Given the description of an element on the screen output the (x, y) to click on. 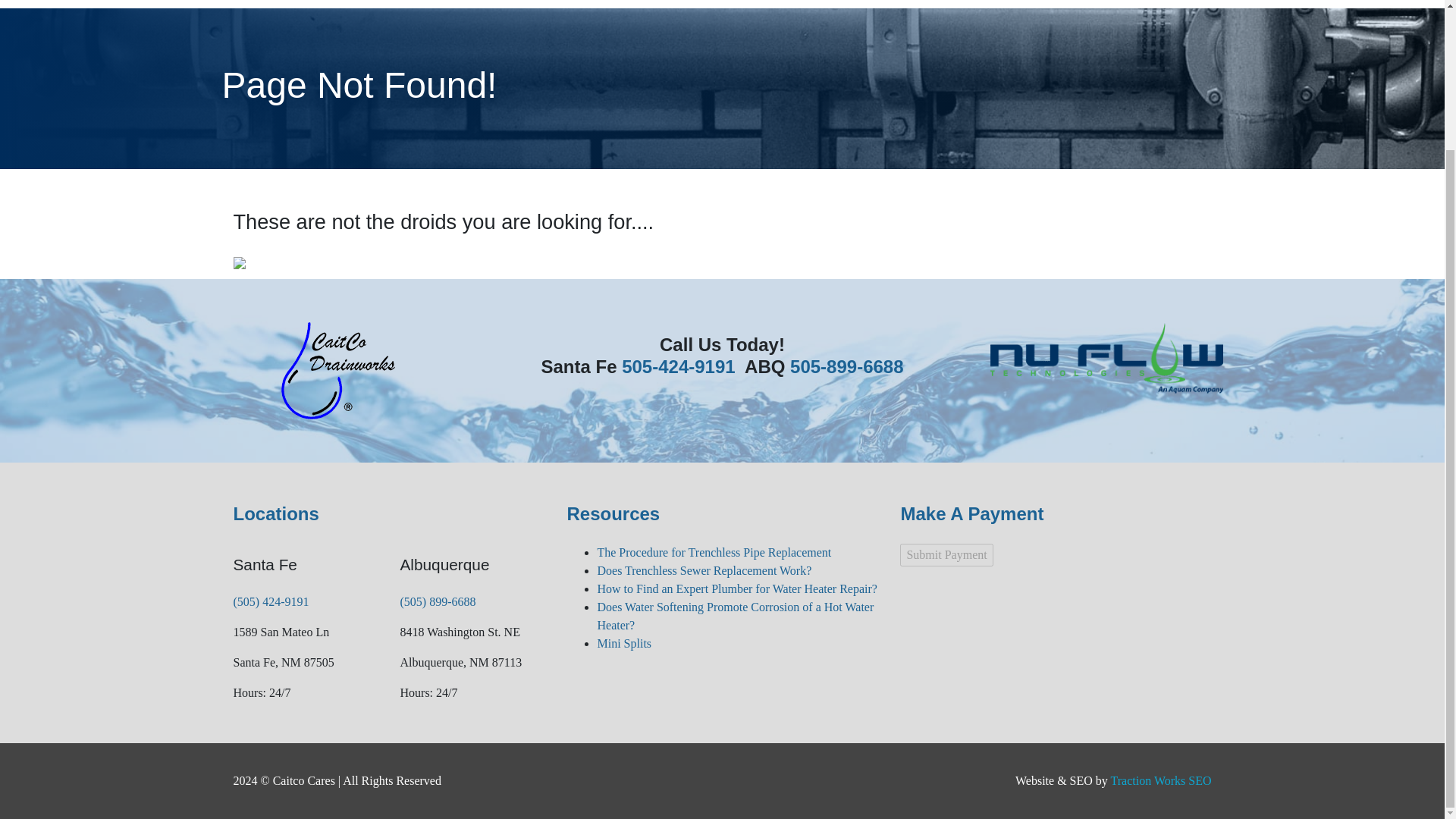
Submit Payment (945, 554)
Mini Splits (623, 643)
Submit Payment (945, 554)
How to Find an Expert Plumber for Water Heater Repair? (736, 588)
Does Trenchless Sewer Replacement Work? (703, 570)
505-424-9191 (678, 366)
505-899-6688 (846, 366)
Traction Works SEO (1160, 780)
The Procedure for Trenchless Pipe Replacement (713, 552)
